Given the description of an element on the screen output the (x, y) to click on. 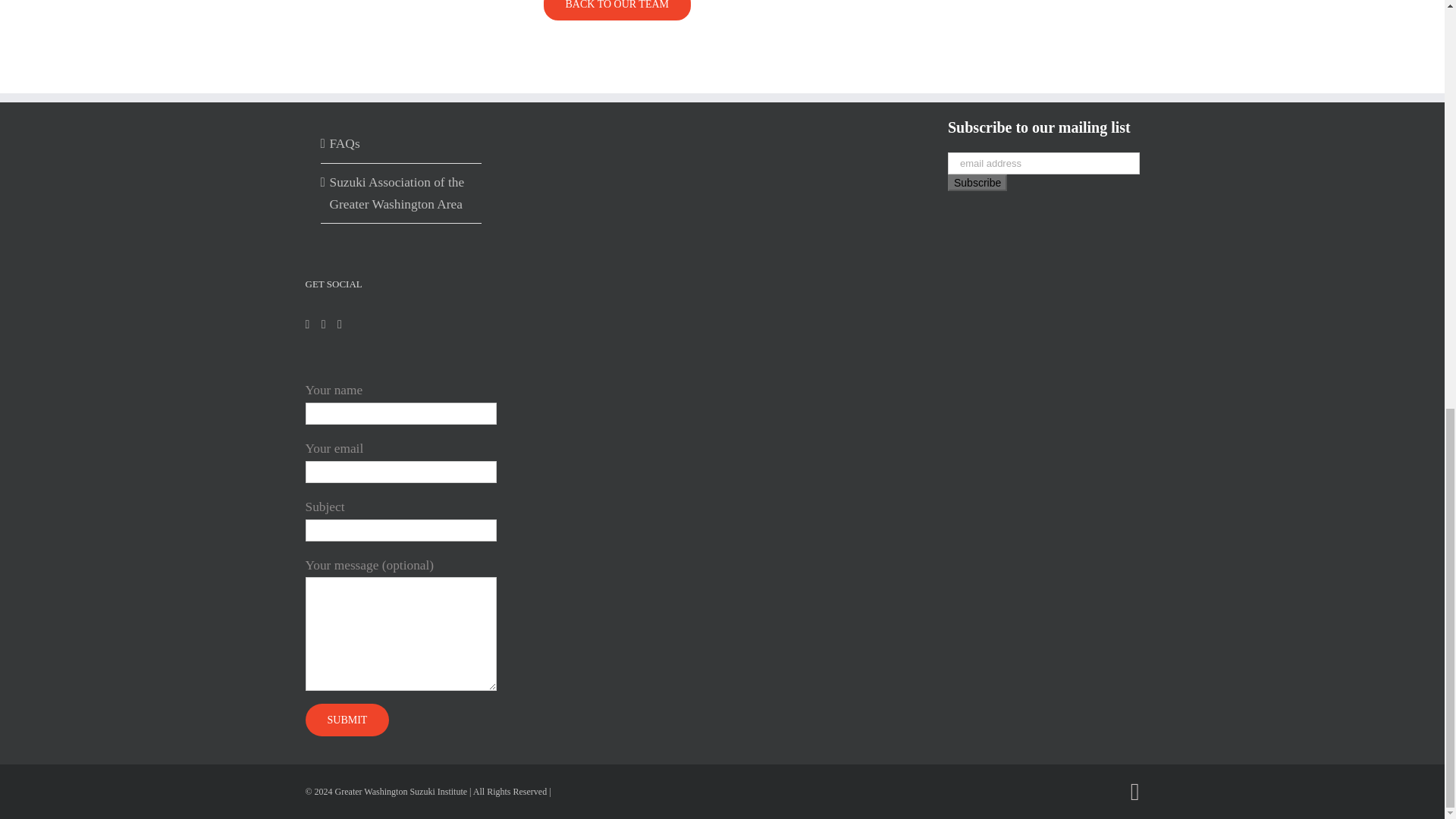
Subscribe (977, 182)
email address (1043, 163)
Submit (346, 719)
